Given the description of an element on the screen output the (x, y) to click on. 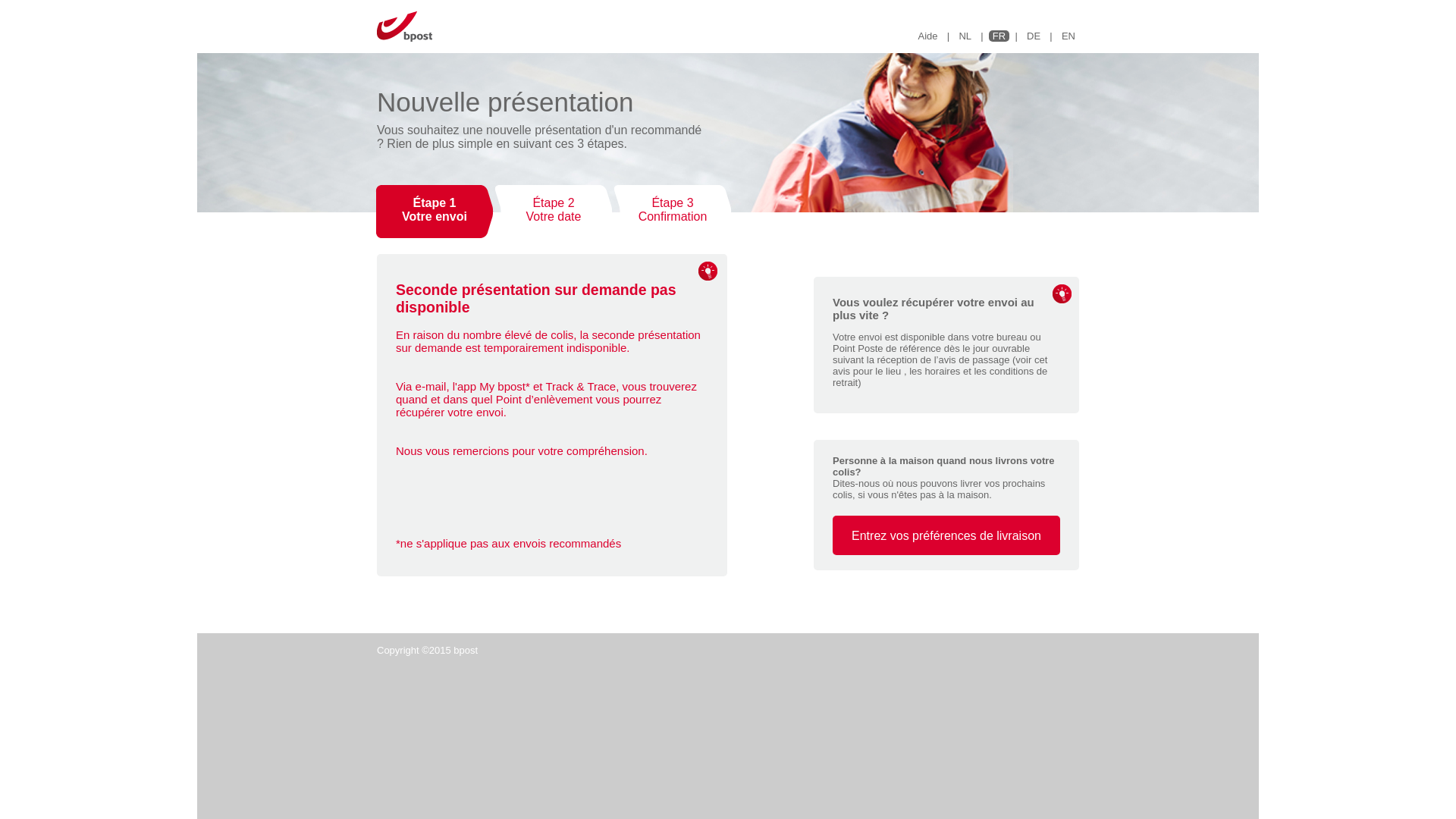
DE Element type: text (1033, 35)
FR Element type: text (998, 35)
Aide Element type: text (927, 35)
EN Element type: text (1068, 35)
NL Element type: text (964, 35)
